Given the description of an element on the screen output the (x, y) to click on. 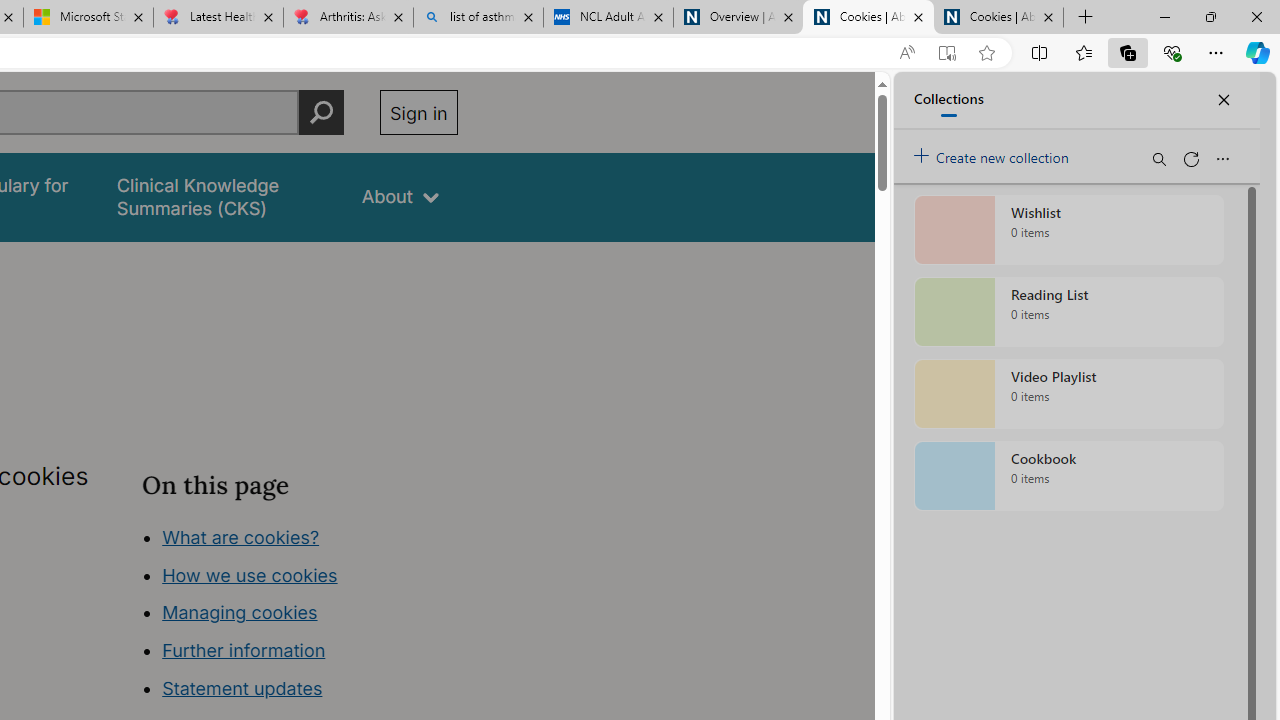
Cookies | About | NICE (998, 17)
